Given the description of an element on the screen output the (x, y) to click on. 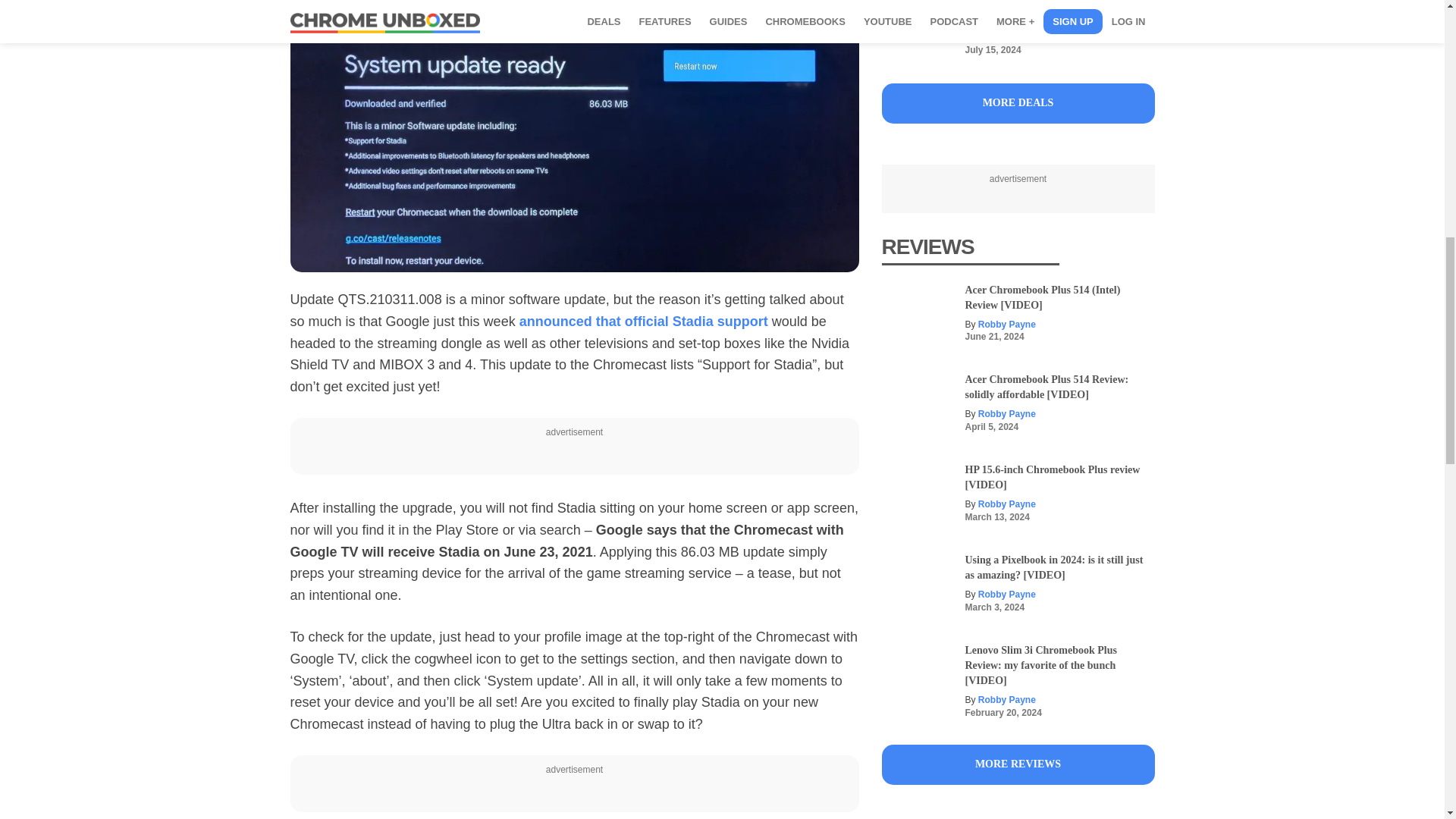
Deals (1017, 102)
Reviews (1017, 763)
